Given the description of an element on the screen output the (x, y) to click on. 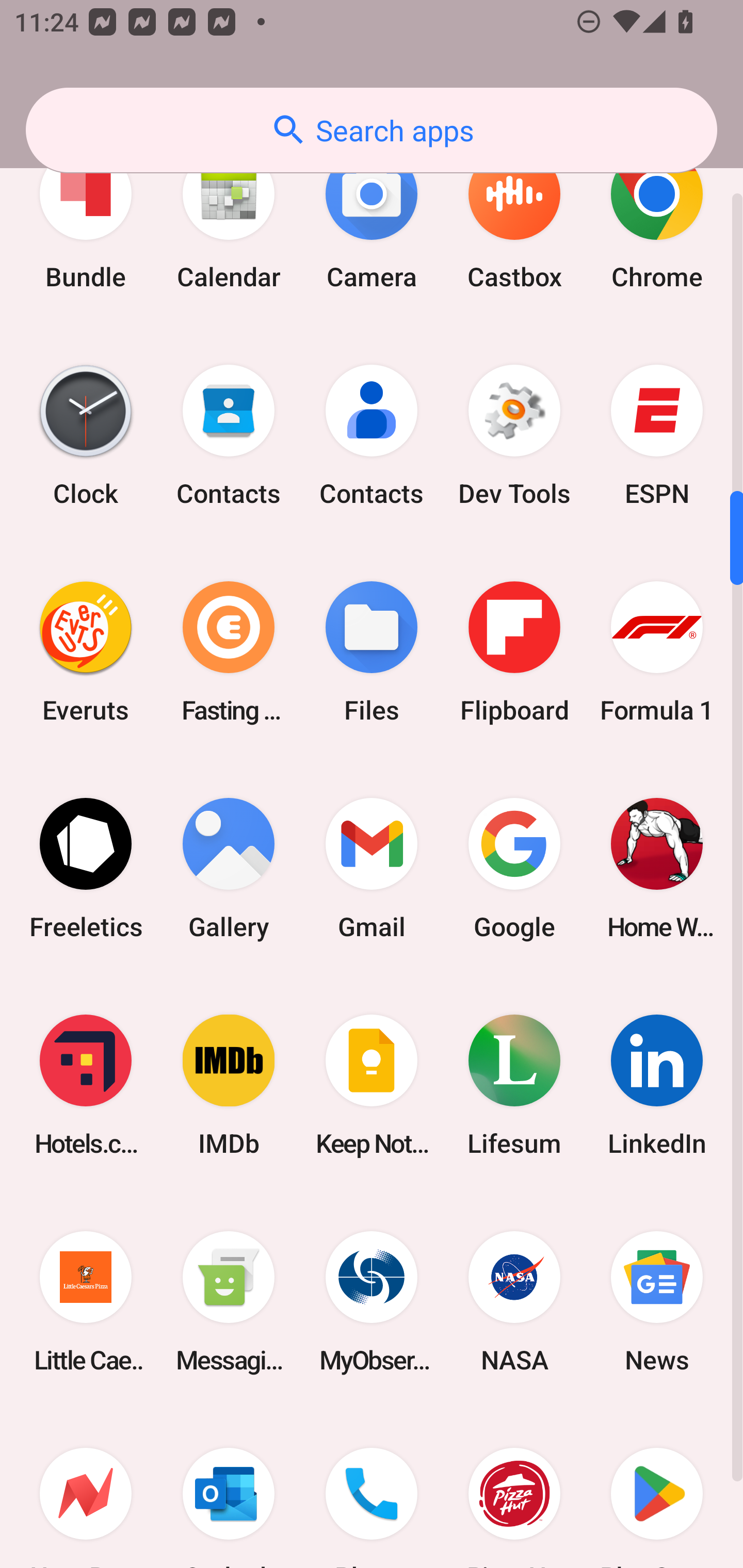
  Search apps (371, 130)
Bundle (85, 218)
Calendar (228, 218)
Camera (371, 218)
Castbox (514, 218)
Chrome (656, 218)
Clock (85, 435)
Contacts (228, 435)
Contacts (371, 435)
Dev Tools (514, 435)
ESPN (656, 435)
Everuts (85, 652)
Fasting Coach (228, 652)
Files (371, 652)
Flipboard (514, 652)
Formula 1 (656, 652)
Freeletics (85, 868)
Gallery (228, 868)
Gmail (371, 868)
Google (514, 868)
Home Workout (656, 868)
Hotels.com (85, 1084)
IMDb (228, 1084)
Keep Notes (371, 1084)
Lifesum (514, 1084)
LinkedIn (656, 1084)
Little Caesars Pizza (85, 1301)
Messaging (228, 1301)
MyObservatory (371, 1301)
NASA (514, 1301)
News (656, 1301)
NewsBreak (85, 1488)
Outlook (228, 1488)
Phone (371, 1488)
Pizza Hut HK & Macau (514, 1488)
Play Store (656, 1488)
